Given the description of an element on the screen output the (x, y) to click on. 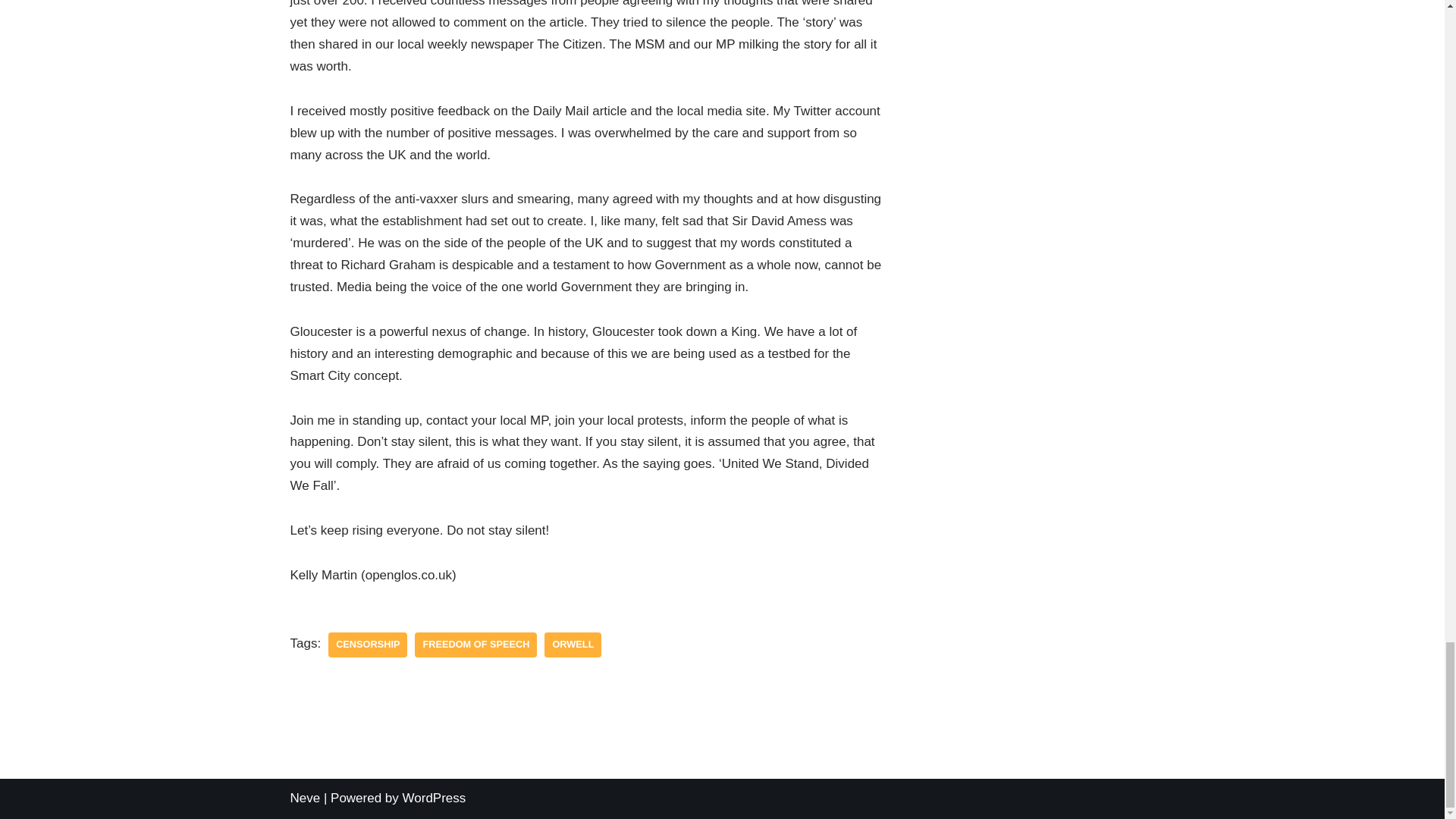
Orwell (572, 644)
Censorship (368, 644)
Freedom of Speech (475, 644)
